Given the description of an element on the screen output the (x, y) to click on. 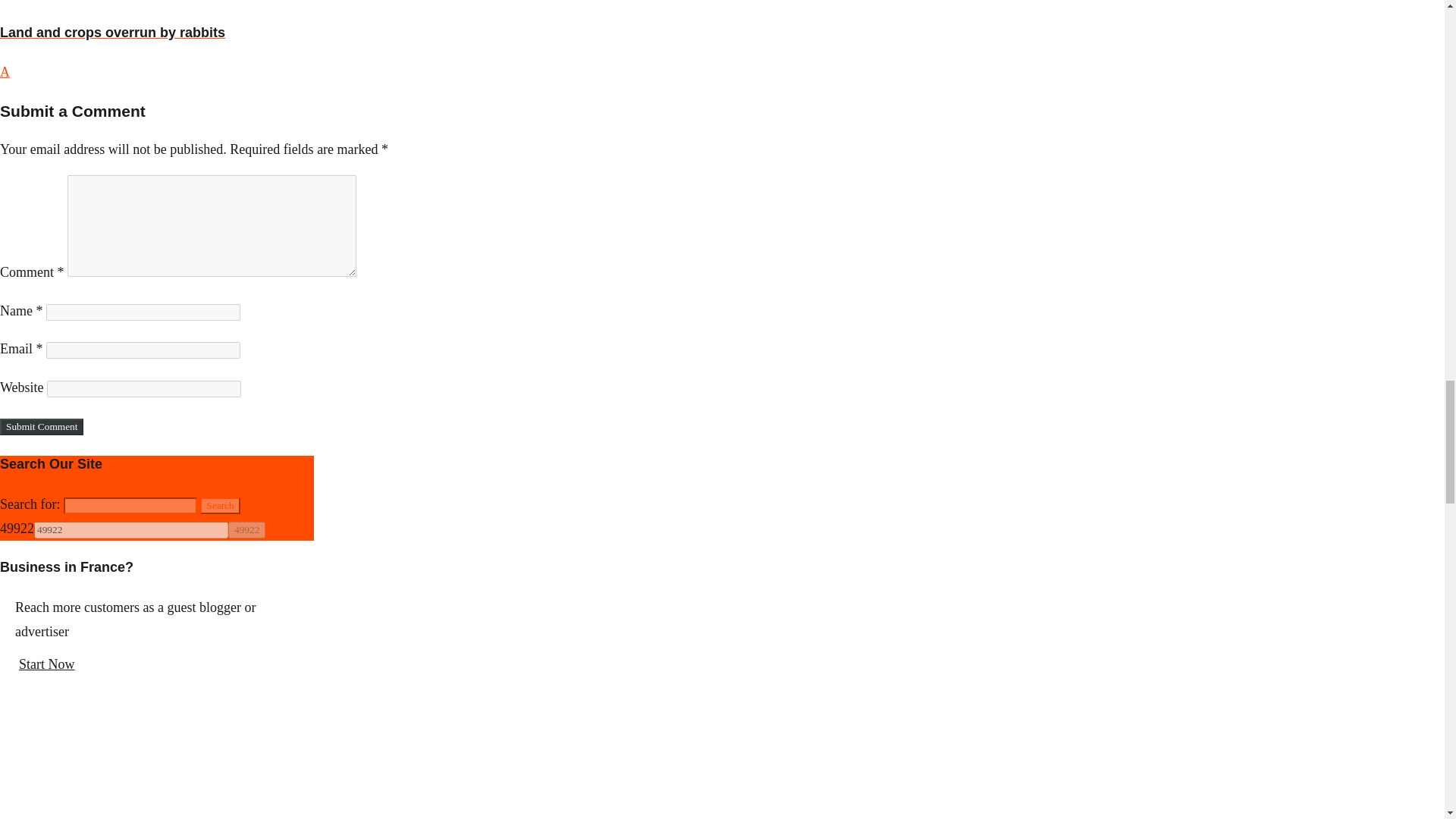
49922 (246, 529)
49922 (130, 529)
49922 (246, 529)
Search (220, 505)
49922 (130, 529)
Land and crops overrun by rabbits (366, 32)
Submit Comment (41, 426)
49922 (246, 529)
Search (220, 505)
General (21, 0)
Submit Comment (41, 426)
